Given the description of an element on the screen output the (x, y) to click on. 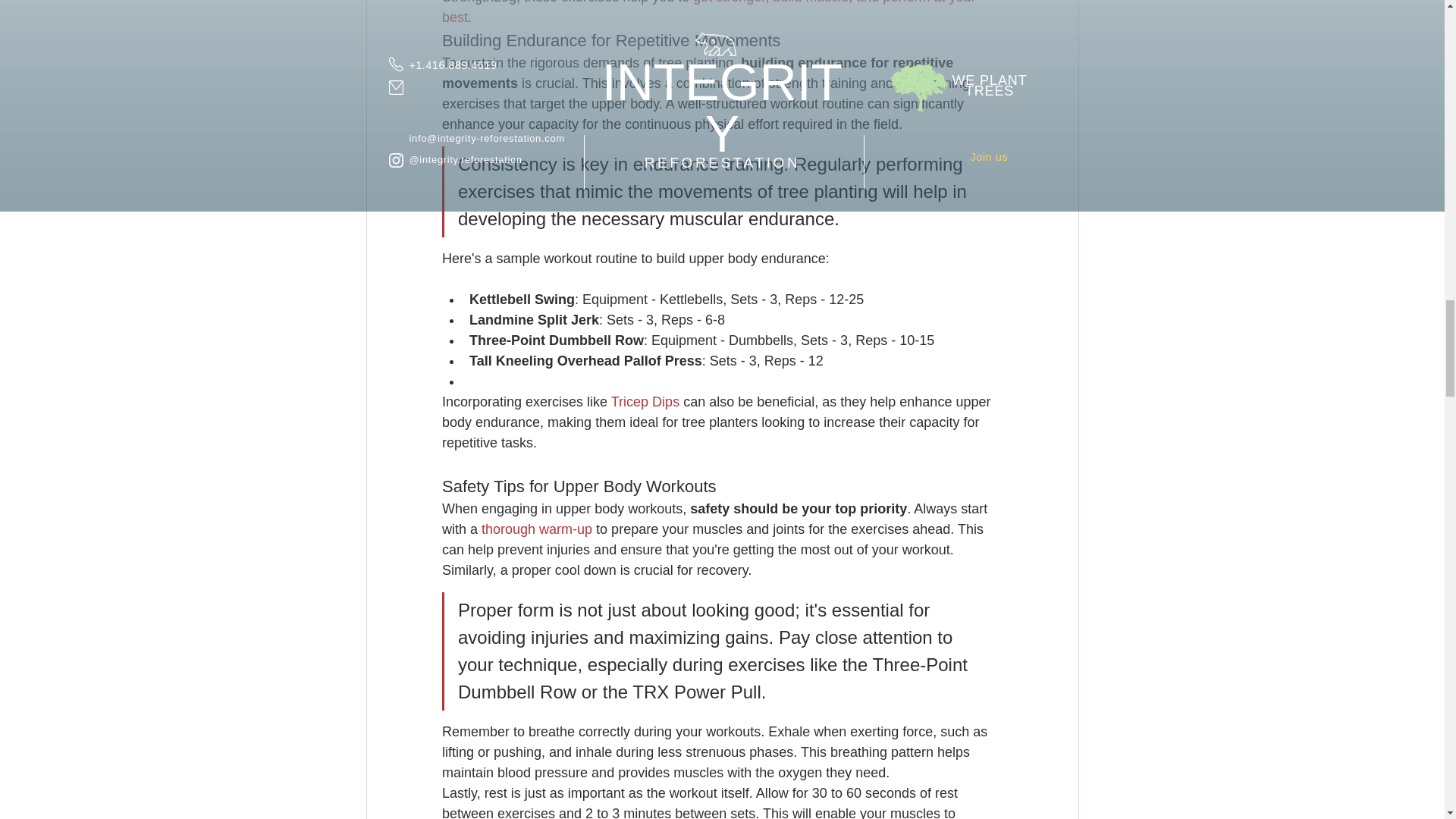
thorough warm-up (536, 529)
get stronger, build muscle, and perform at your best (709, 12)
Tricep Dips (644, 401)
